Given the description of an element on the screen output the (x, y) to click on. 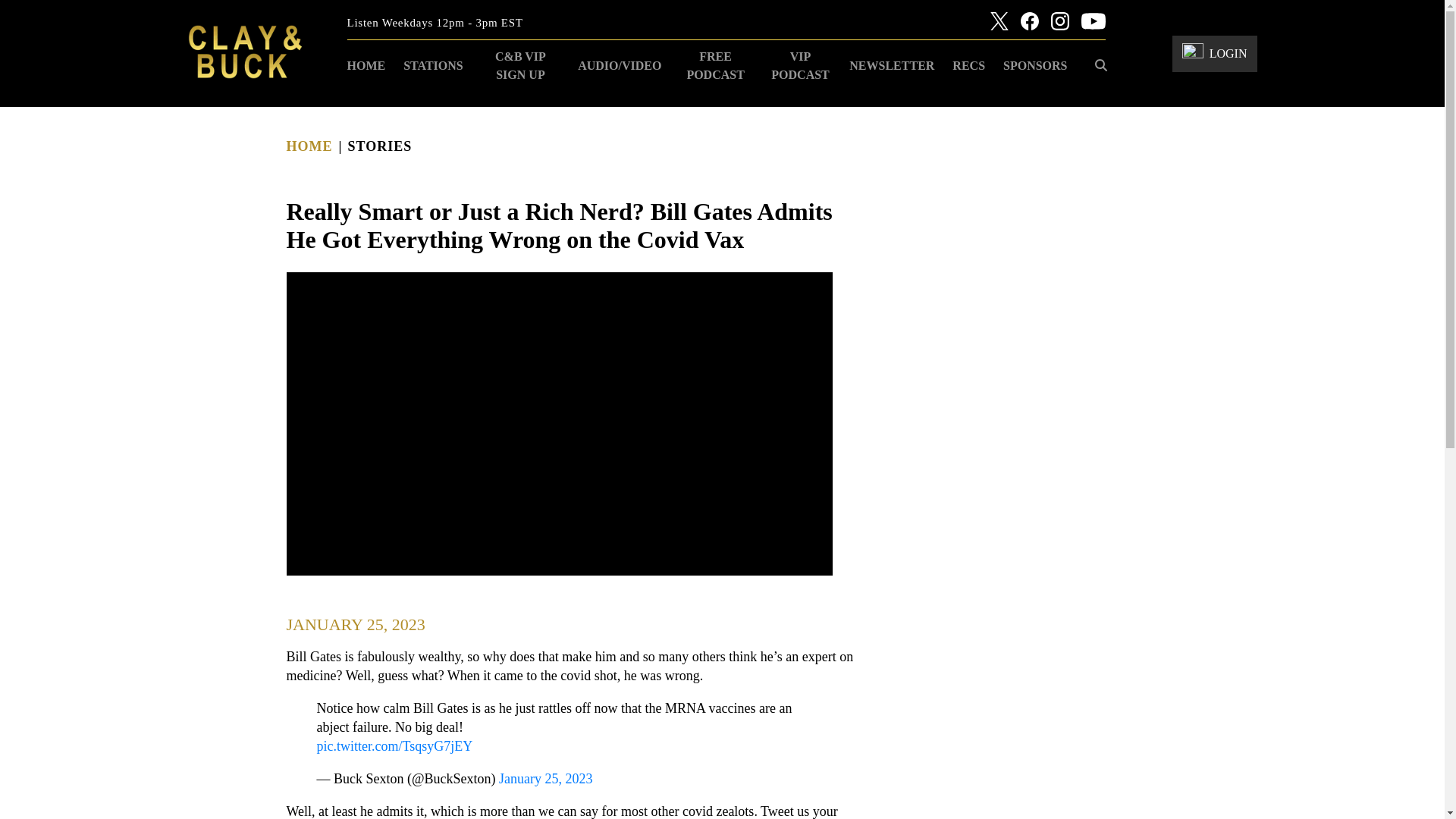
STORIES (379, 145)
HOME (309, 145)
HOME (365, 65)
FREE PODCAST (714, 65)
LOGIN (1214, 53)
RECS (968, 65)
STATIONS (432, 65)
SPONSORS (1034, 65)
NEWSLETTER (891, 65)
VIP PODCAST (800, 65)
